Given the description of an element on the screen output the (x, y) to click on. 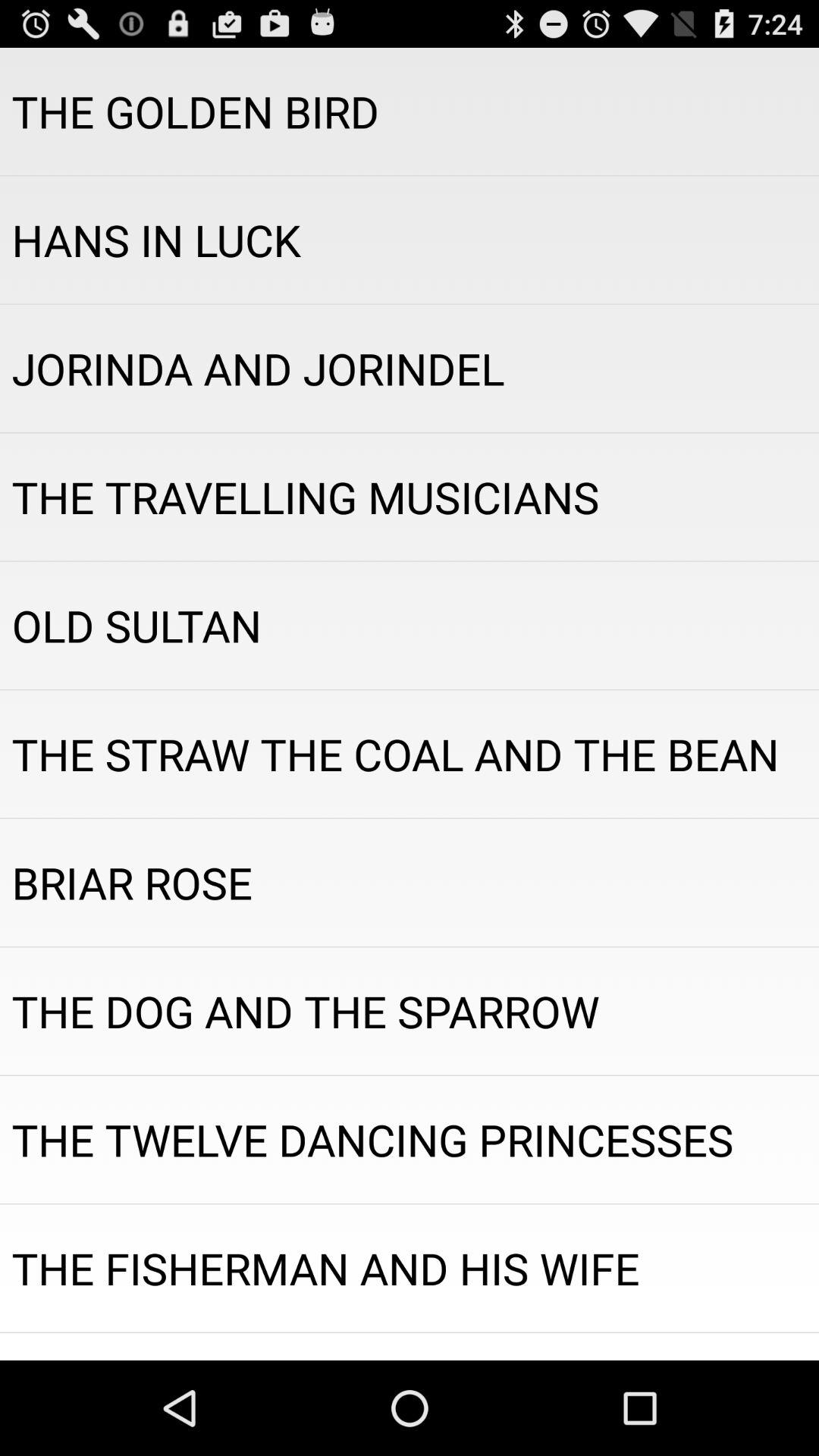
launch item below the the travelling musicians icon (409, 625)
